Given the description of an element on the screen output the (x, y) to click on. 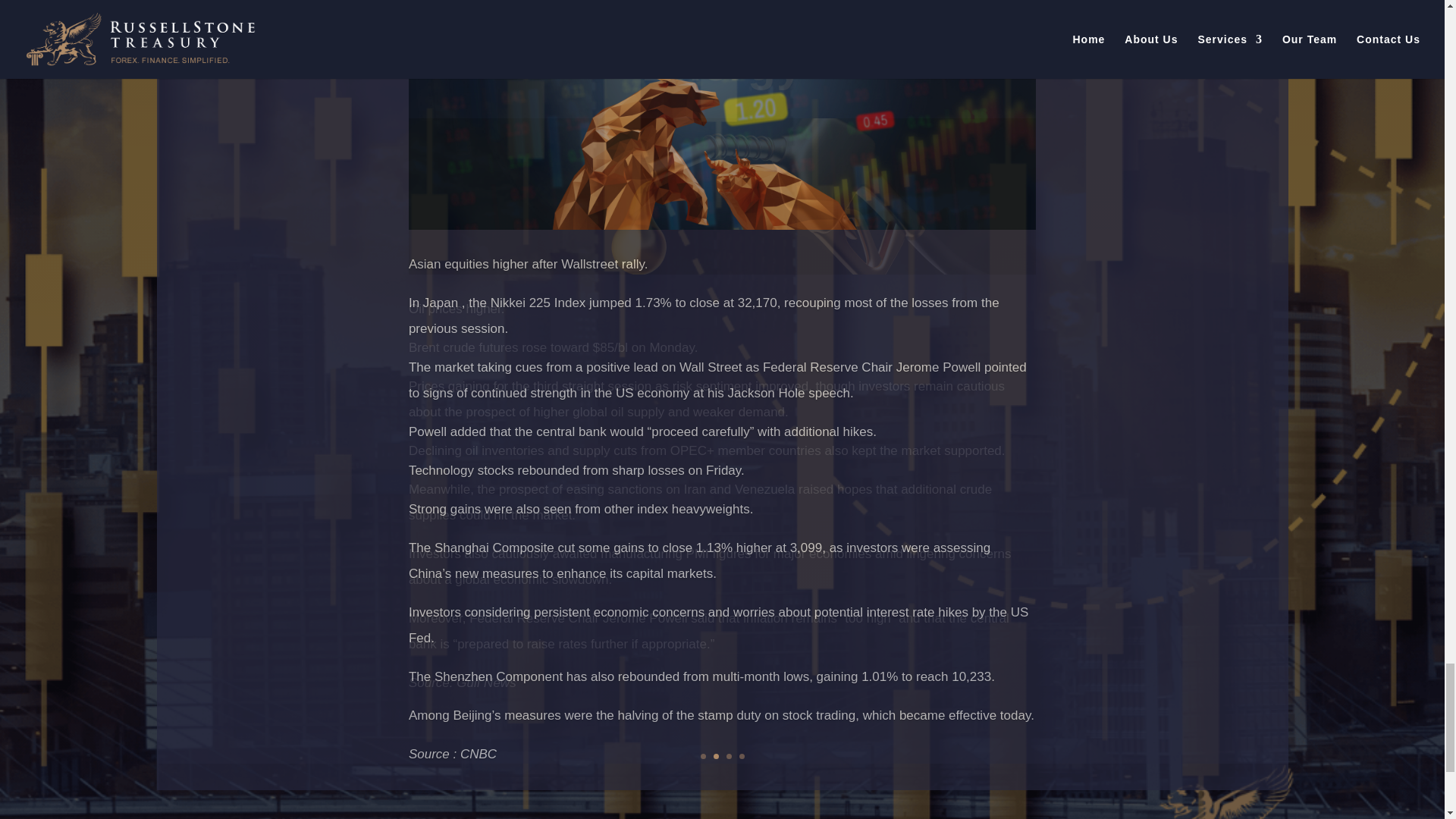
3 (729, 756)
1 (703, 756)
4 (741, 756)
